Given the description of an element on the screen output the (x, y) to click on. 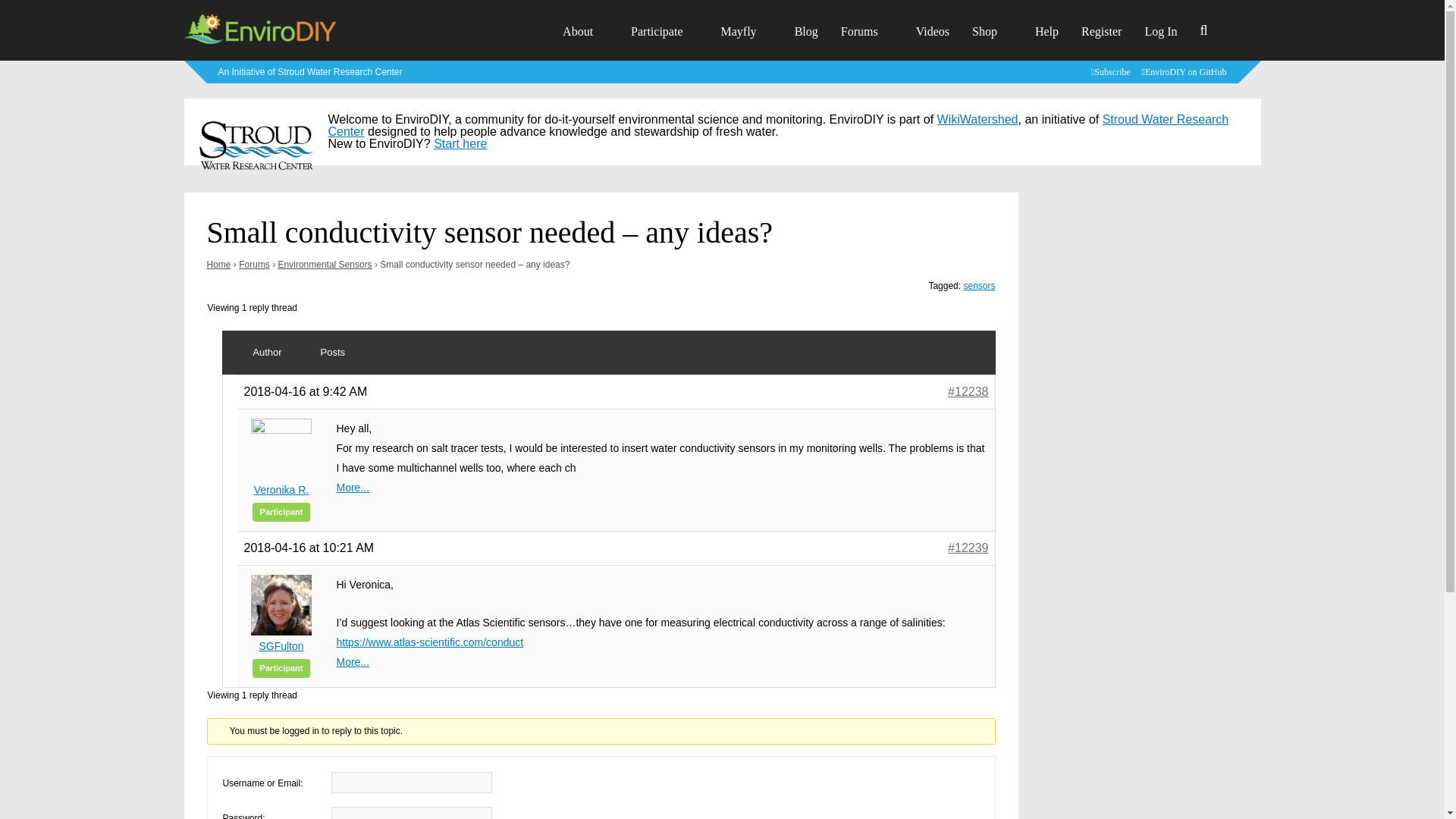
EnviroDIY on GitHub (1185, 71)
EnviroDIY (258, 42)
Learn more (310, 71)
